Given the description of an element on the screen output the (x, y) to click on. 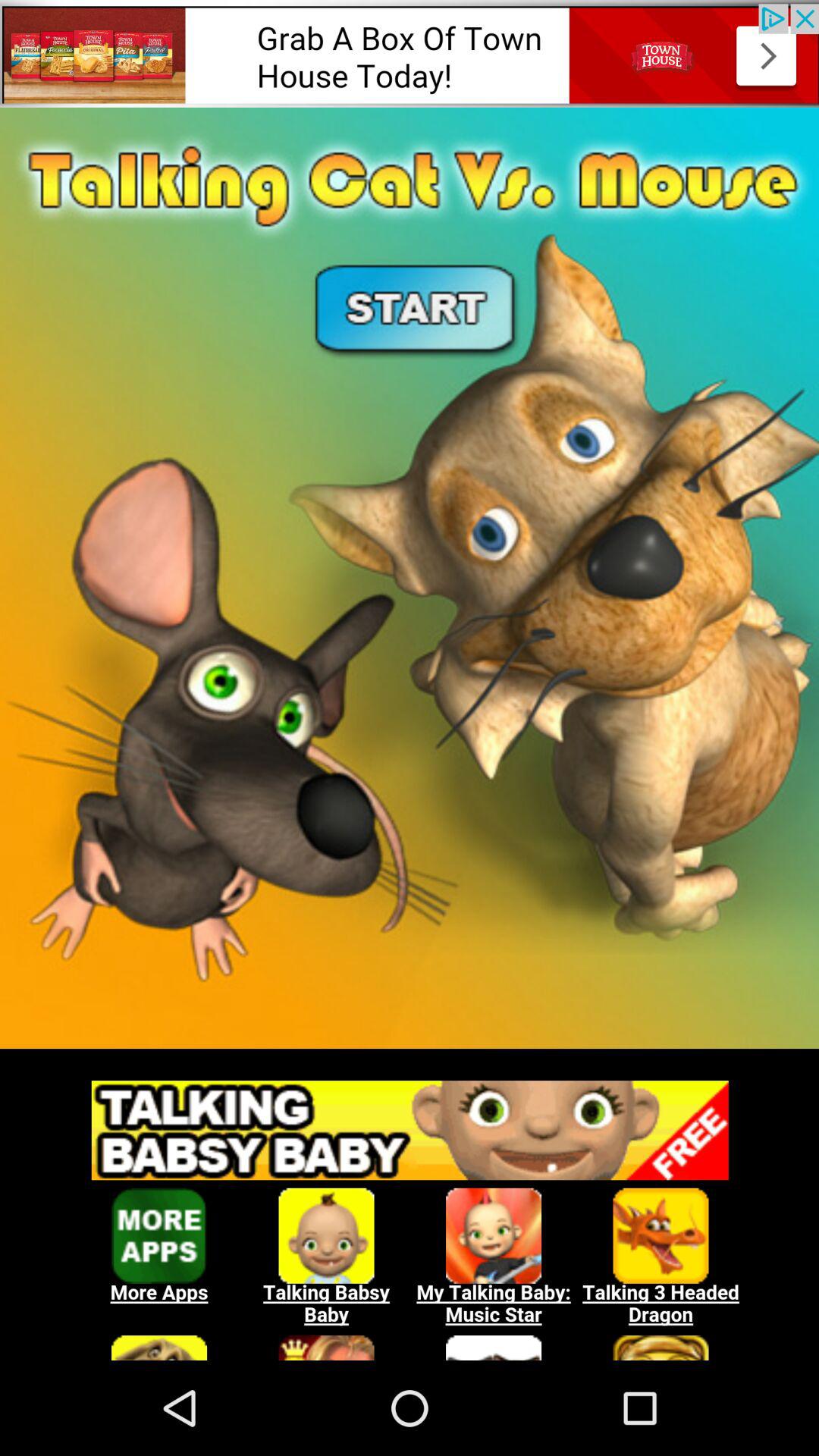
open advertisement (409, 53)
